Given the description of an element on the screen output the (x, y) to click on. 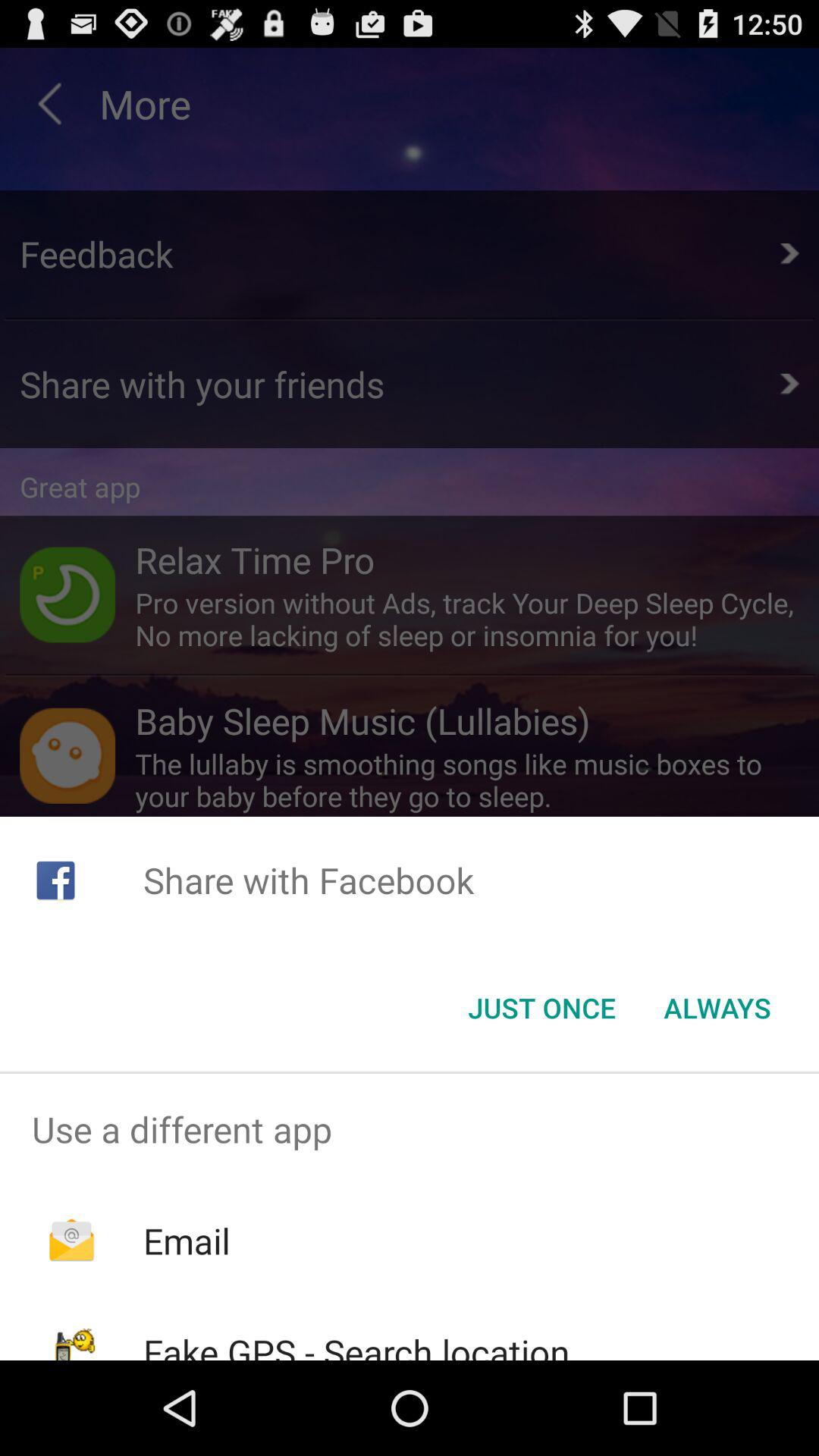
select button next to the just once item (717, 1007)
